Given the description of an element on the screen output the (x, y) to click on. 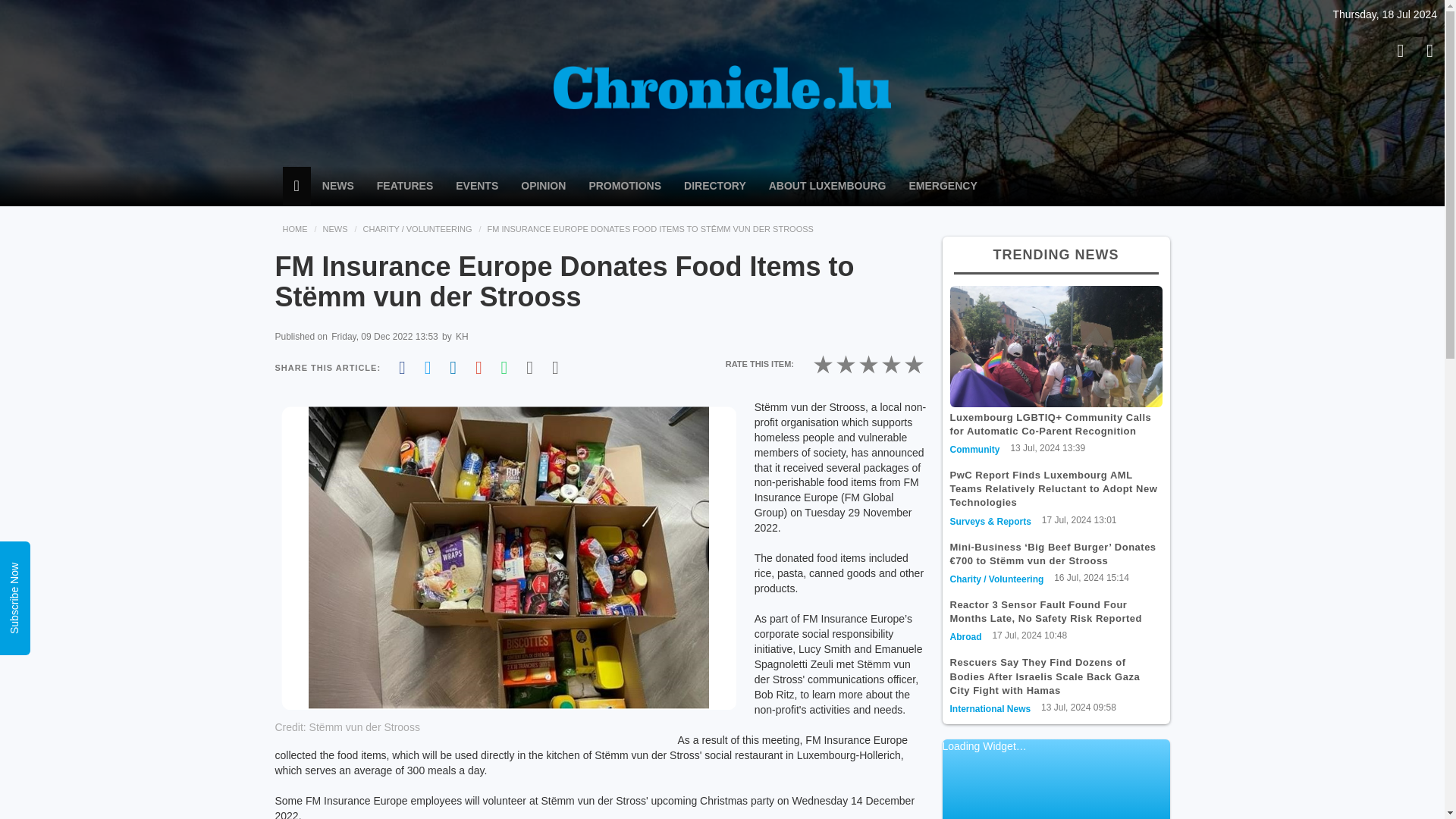
NEWS (338, 185)
abroad (965, 636)
FEATURES (404, 185)
EVENTS (476, 185)
OPINION (542, 185)
Community (973, 449)
surveys-reports (989, 521)
international-news (989, 708)
charity-volunteering (996, 579)
